Given the description of an element on the screen output the (x, y) to click on. 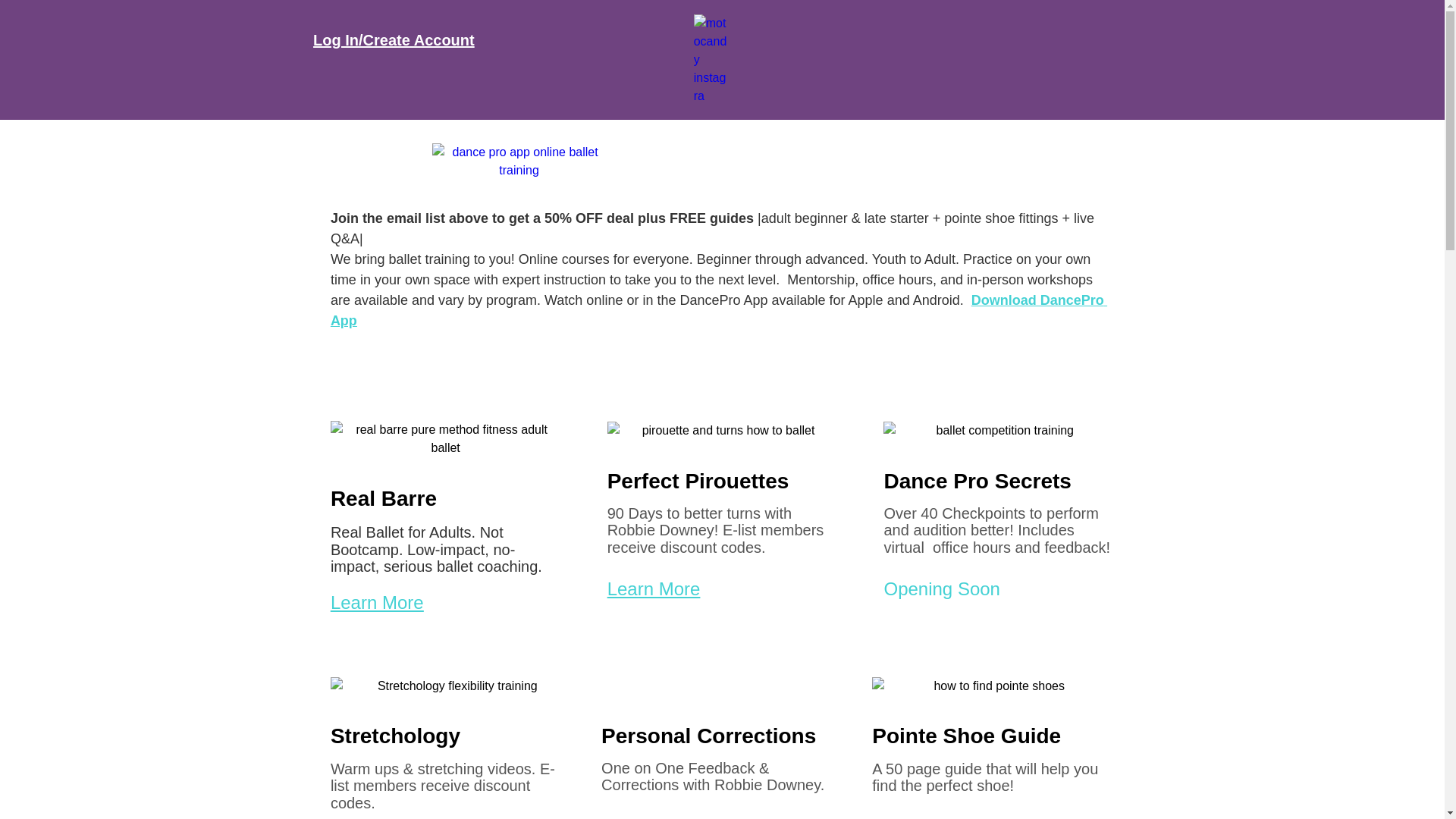
Learn More (376, 602)
Download DancePro App (718, 310)
Learn More (653, 588)
